Given the description of an element on the screen output the (x, y) to click on. 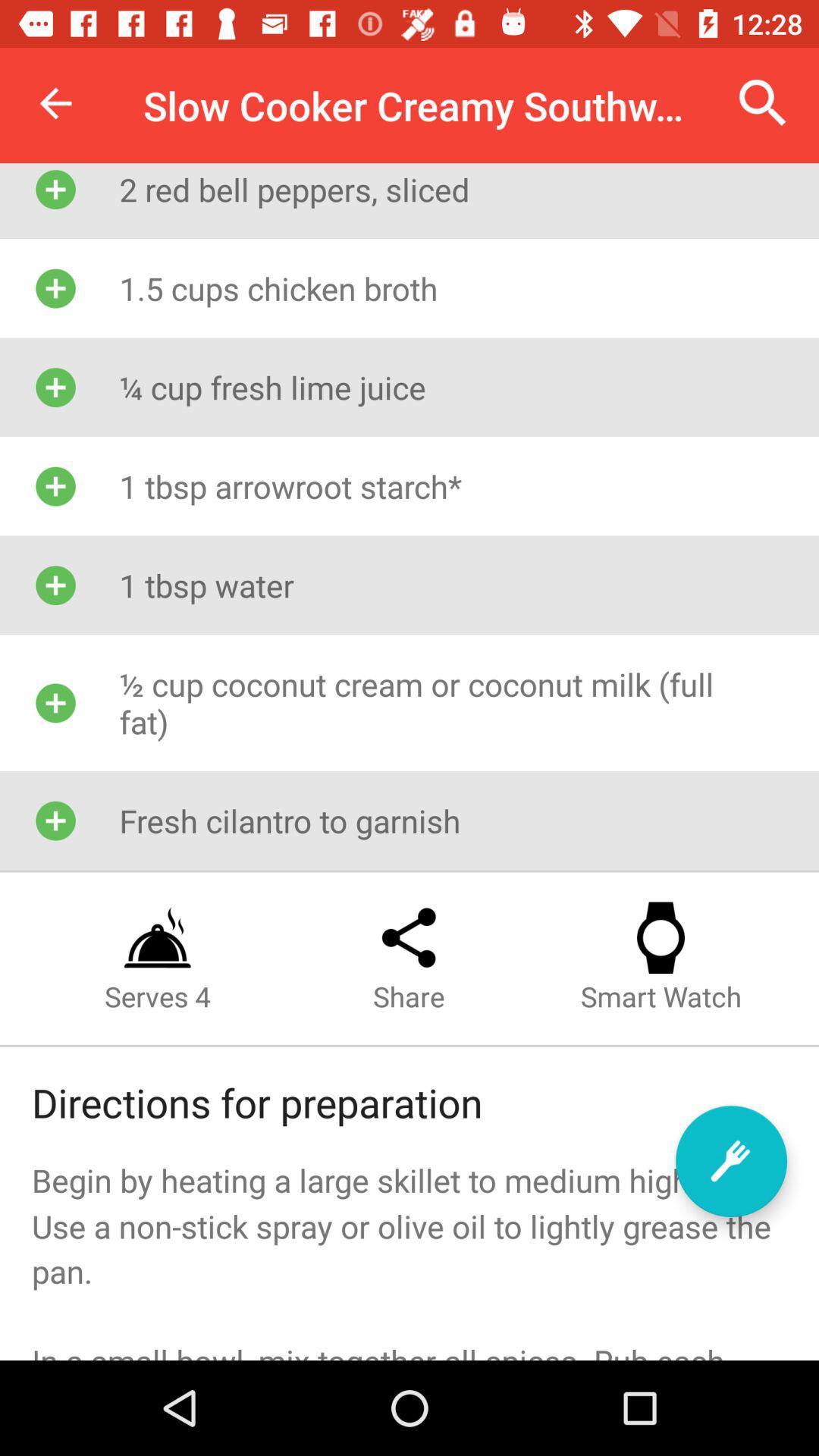
click item above the 2 red bell icon (55, 103)
